Given the description of an element on the screen output the (x, y) to click on. 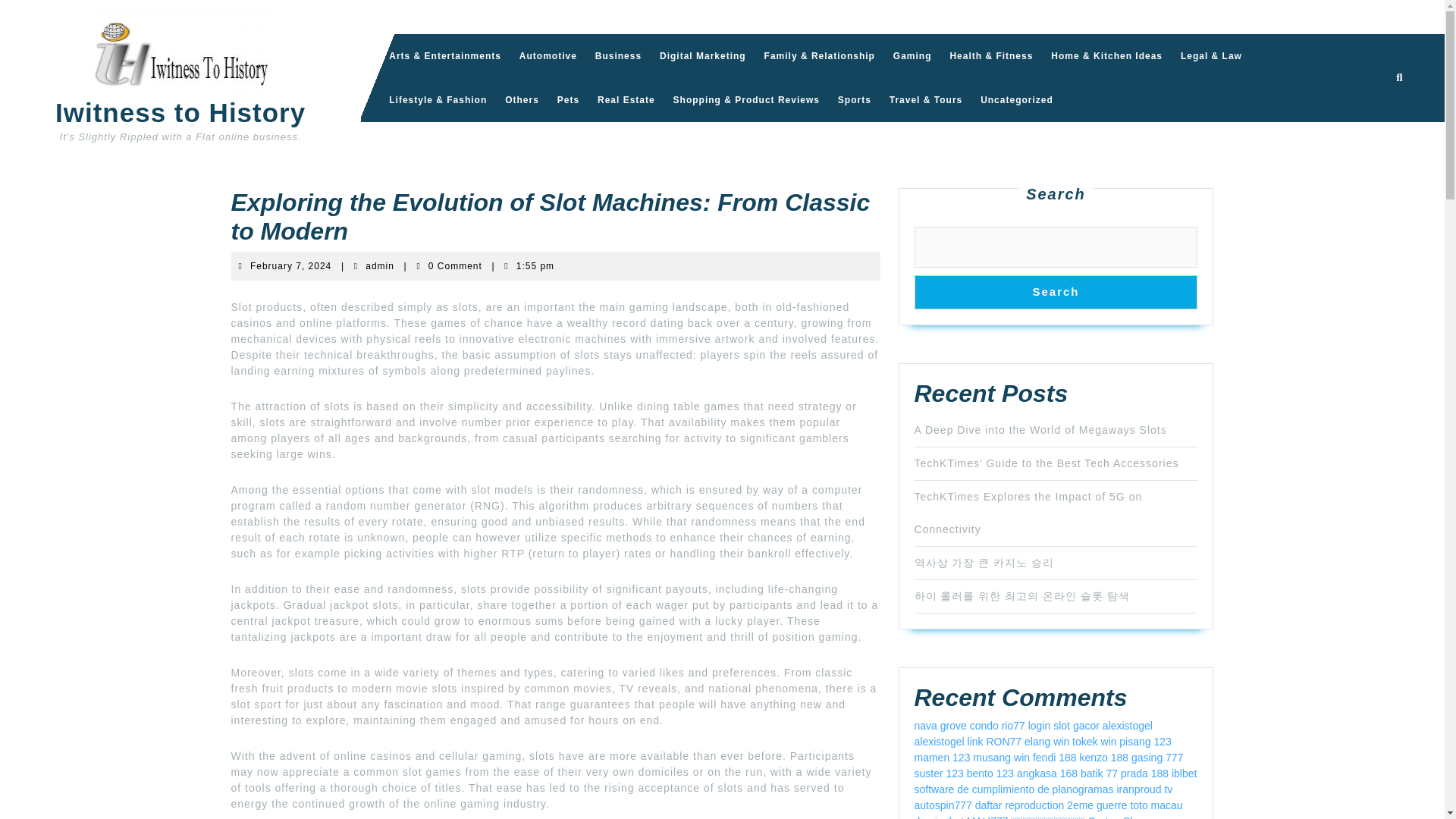
Sports (854, 99)
Others (290, 266)
Digital Marketing (522, 99)
Business (703, 55)
Automotive (618, 55)
TechKTimes Explores the Impact of 5G on Connectivity (548, 55)
Search (1028, 512)
Real Estate (1056, 292)
